Given the description of an element on the screen output the (x, y) to click on. 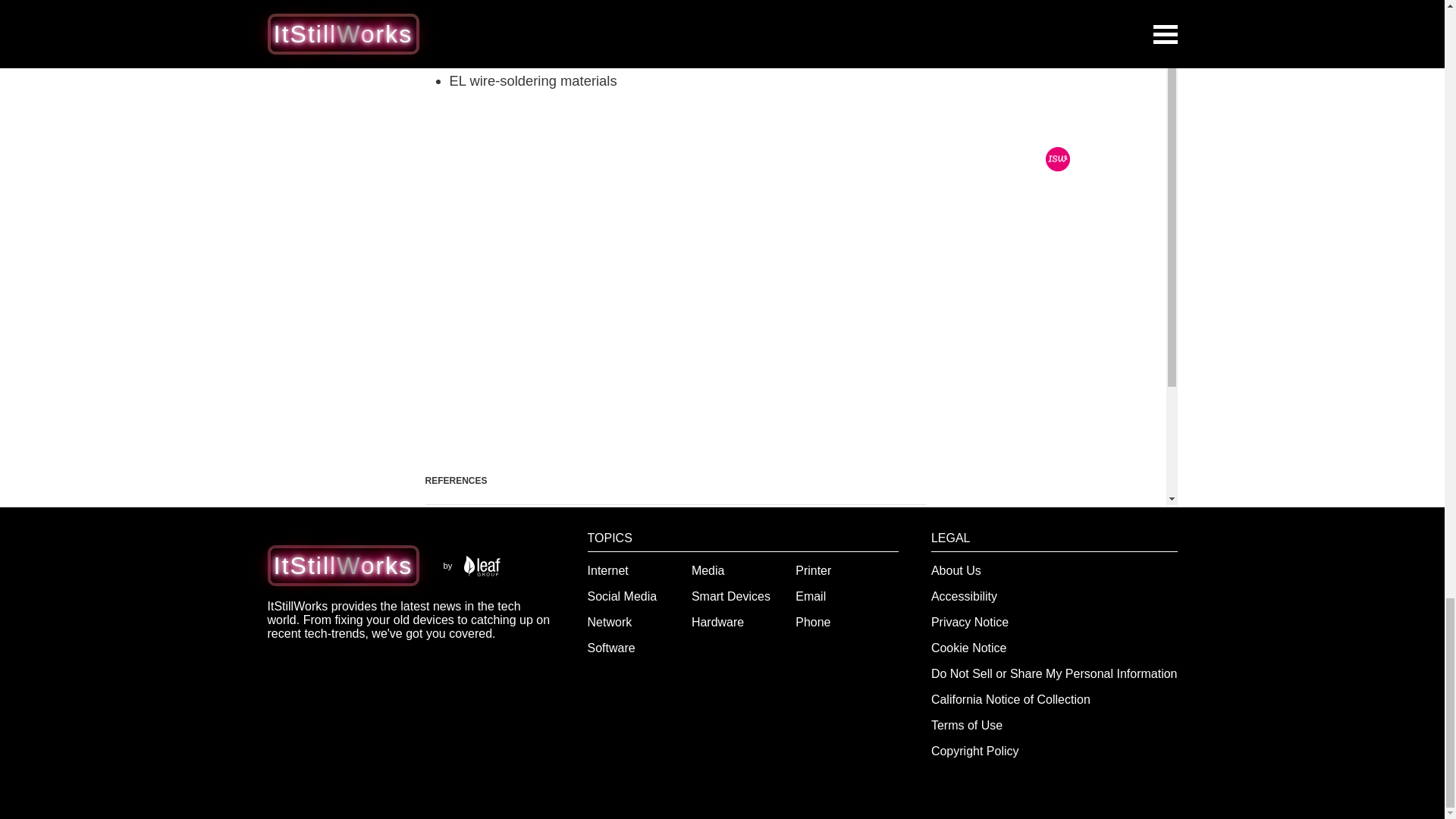
Hardware (717, 621)
Internet (608, 570)
Printer (812, 570)
California Notice of Collection (1010, 698)
Cookie Notice (969, 647)
Media (708, 570)
About Us (956, 570)
Software (611, 647)
Do Not Sell or Share My Personal Information (1054, 673)
Phone (811, 621)
Social Media (623, 595)
Network (609, 621)
Privacy Notice (970, 621)
Accessibility (964, 595)
Copyright Policy (975, 750)
